Given the description of an element on the screen output the (x, y) to click on. 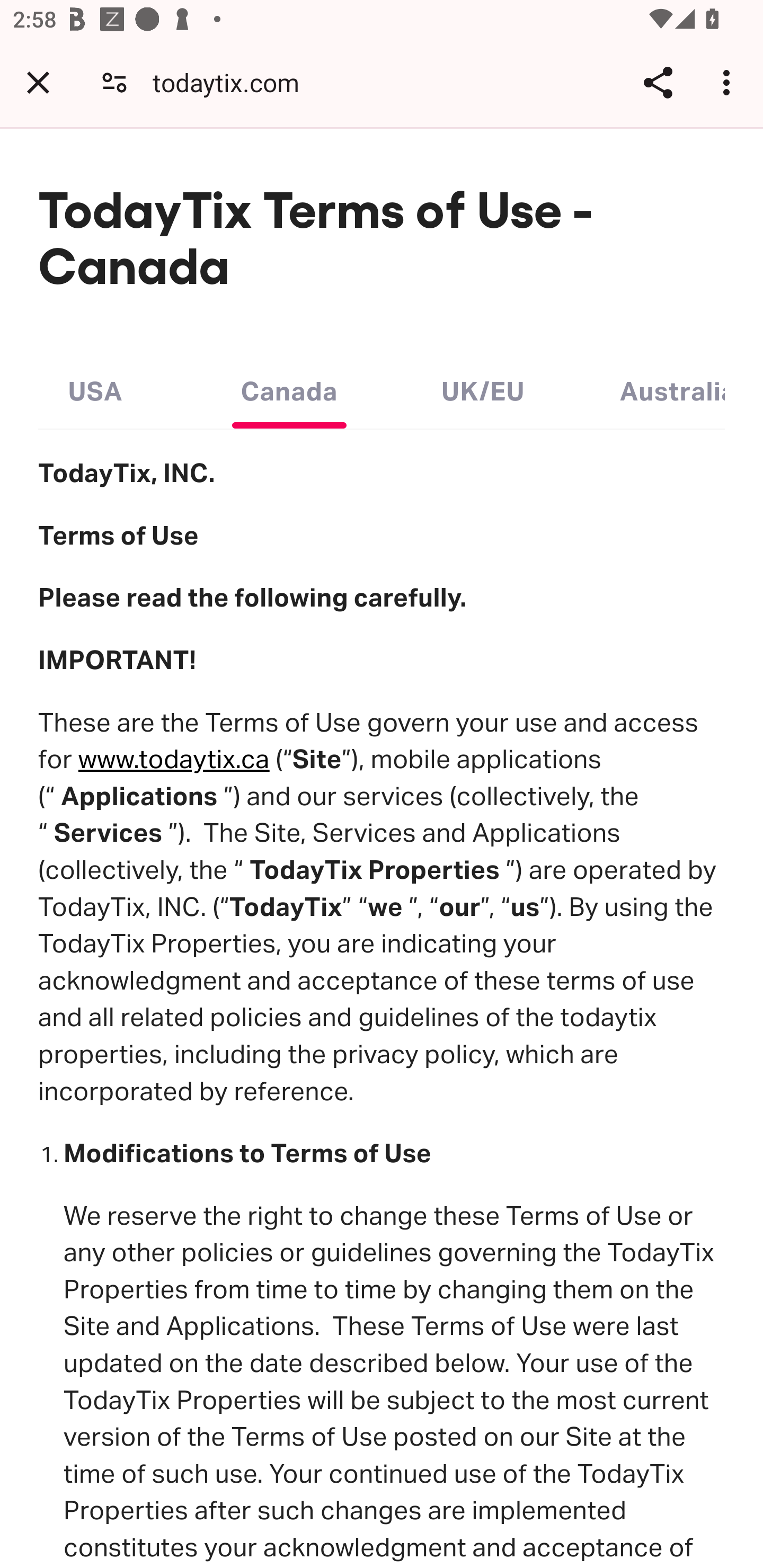
Close tab (38, 82)
Share (657, 82)
Customize and control Google Chrome (729, 82)
Connection is secure (114, 81)
todaytix.com (232, 81)
USA (95, 387)
Canada (288, 387)
UK/EU (482, 387)
Australia (671, 387)
www.todaytix.ca (173, 759)
